Given the description of an element on the screen output the (x, y) to click on. 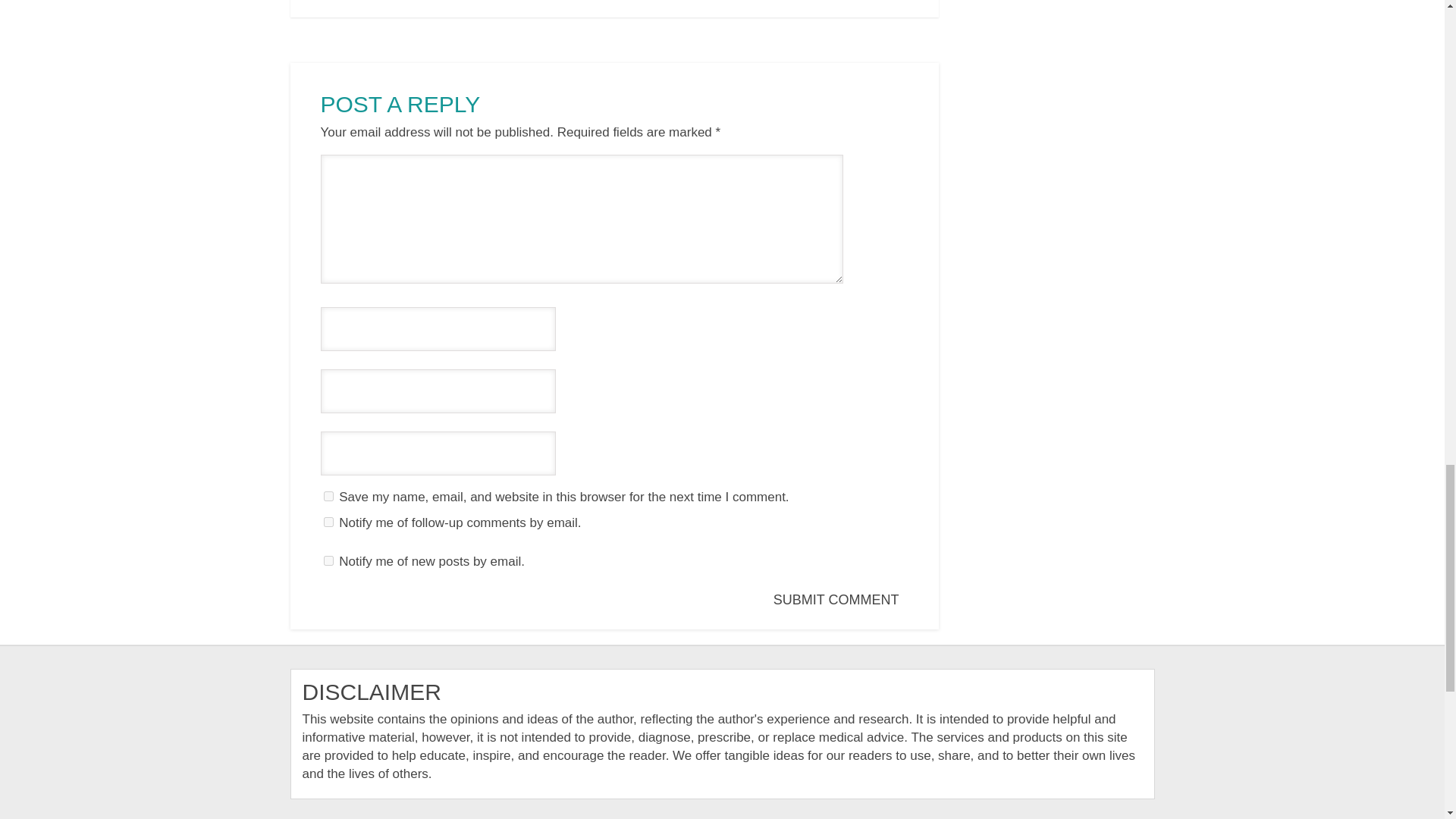
yes (328, 496)
Submit Comment (838, 600)
subscribe (328, 560)
subscribe (328, 521)
